Given the description of an element on the screen output the (x, y) to click on. 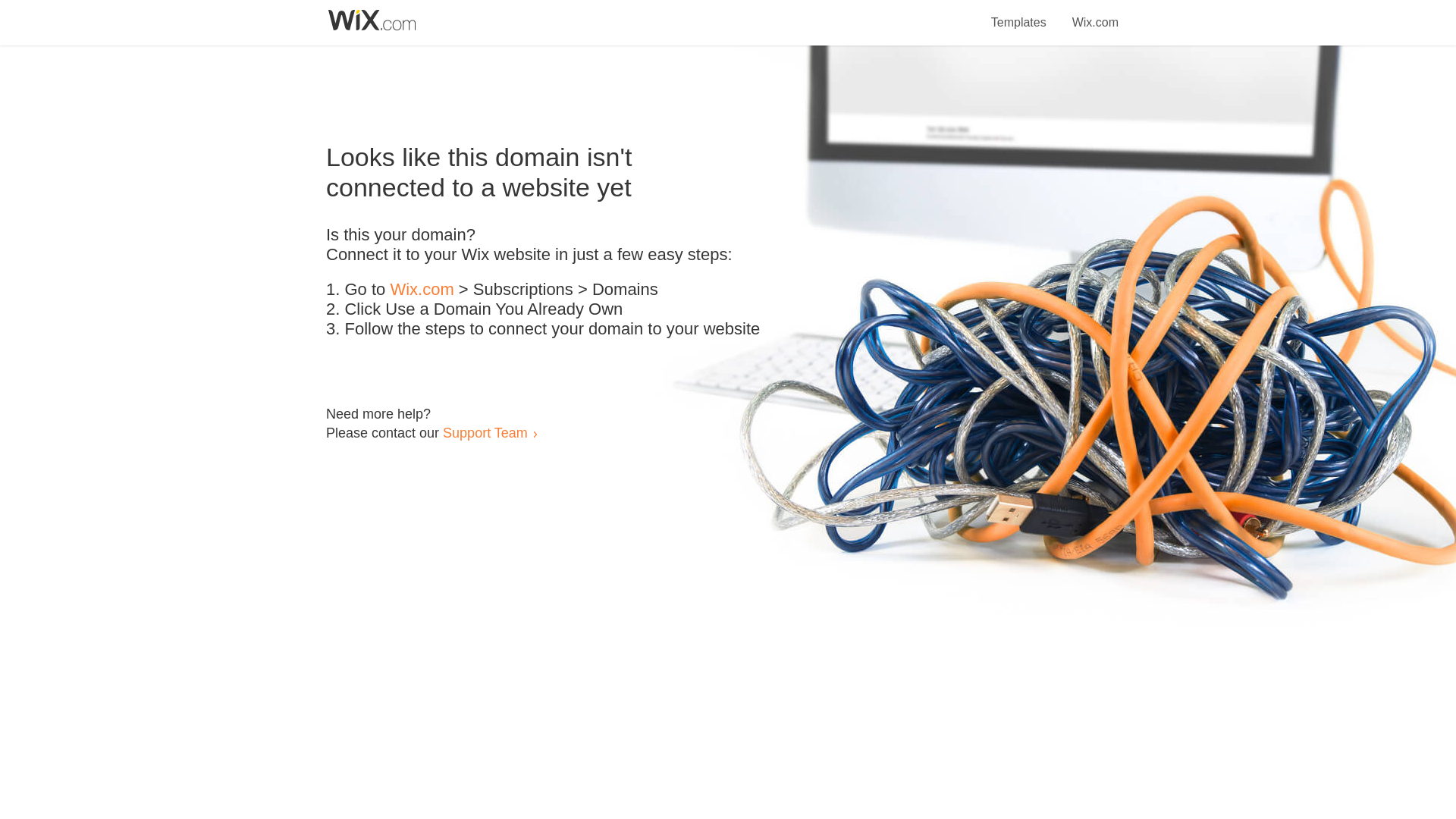
Wix.com (421, 289)
Support Team (484, 432)
Wix.com (1095, 14)
Templates (1018, 14)
